Given the description of an element on the screen output the (x, y) to click on. 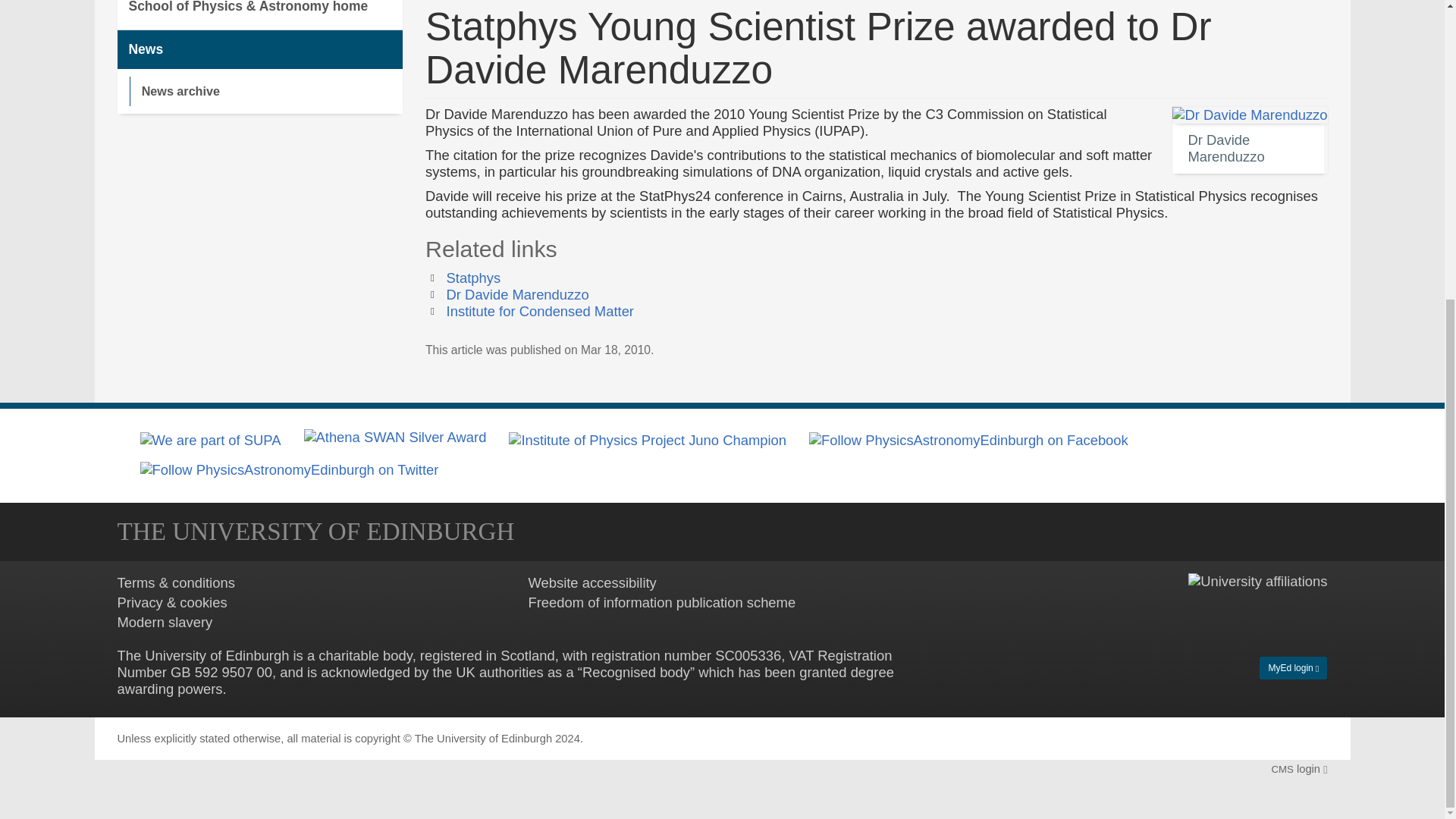
Dr Davide Marenduzzo (517, 294)
News archive (266, 91)
Institute for Condensed Matter (539, 311)
News (259, 49)
Modern slavery (164, 621)
Recognised body (636, 672)
CMS login (1298, 768)
Website accessibility (591, 582)
Statphys (473, 277)
Freedom of information publication scheme (660, 602)
